Given the description of an element on the screen output the (x, y) to click on. 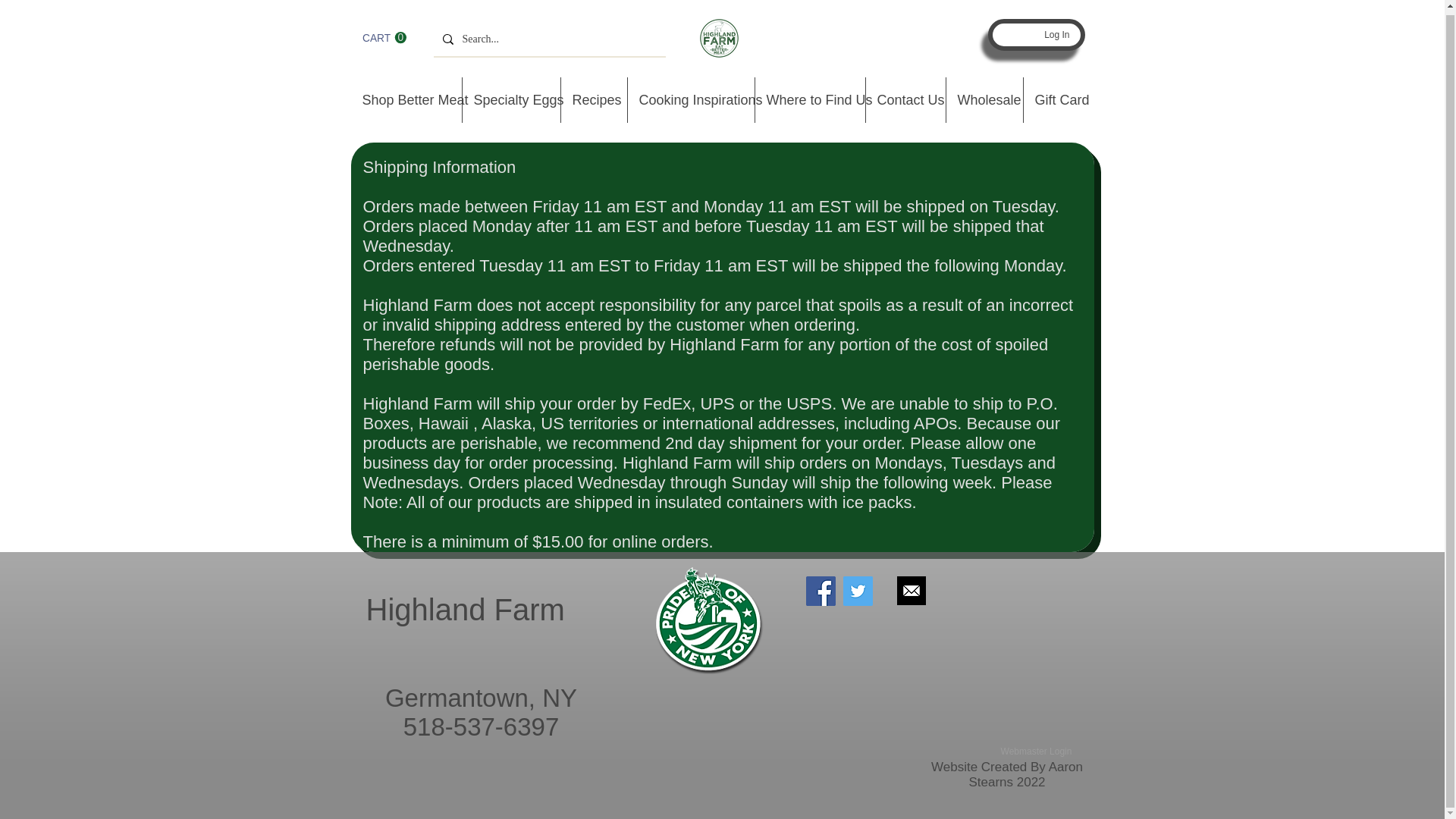
Wholesale (384, 37)
Contact Us (384, 37)
Specialty Eggs (984, 99)
Webmaster Login (905, 99)
Gift Card (511, 99)
Cooking Inspirations (1035, 751)
Log In (1058, 99)
Recipes (690, 99)
